Given the description of an element on the screen output the (x, y) to click on. 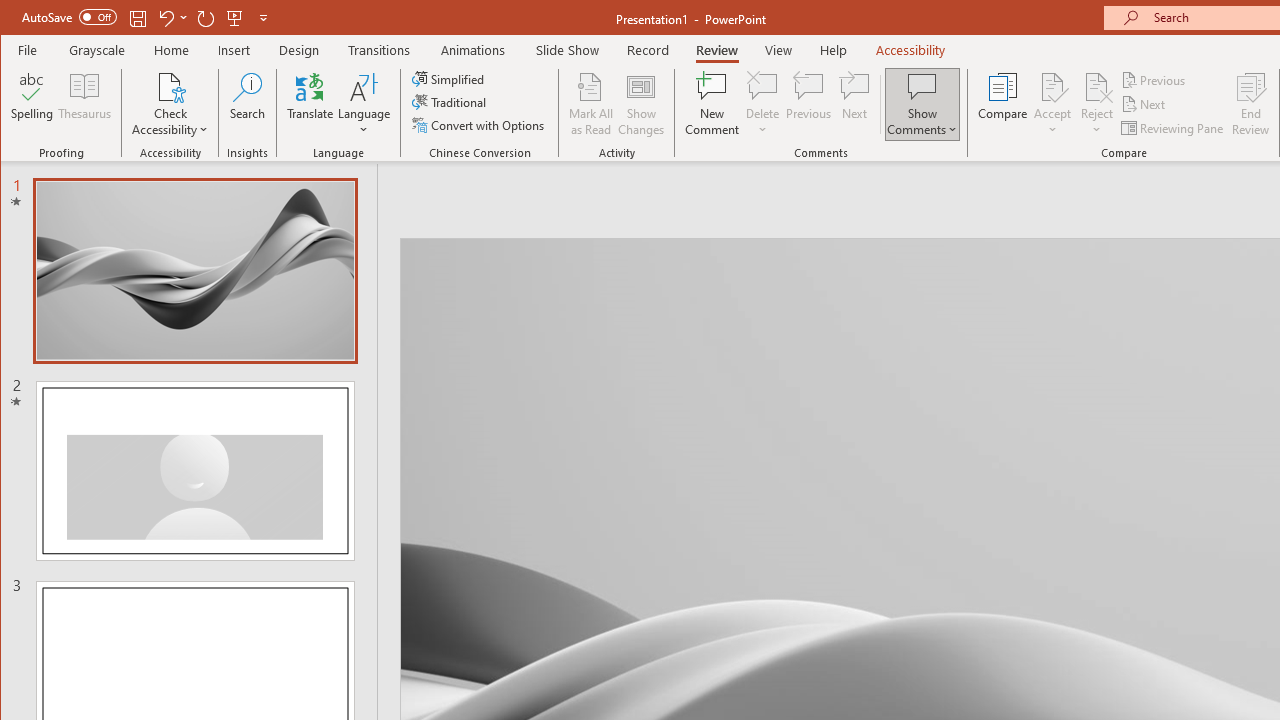
Grayscale (97, 50)
Show Changes (640, 104)
Next (1144, 103)
Mark All as Read (591, 104)
Save (138, 17)
Reject (1096, 104)
Check Accessibility (170, 104)
